Given the description of an element on the screen output the (x, y) to click on. 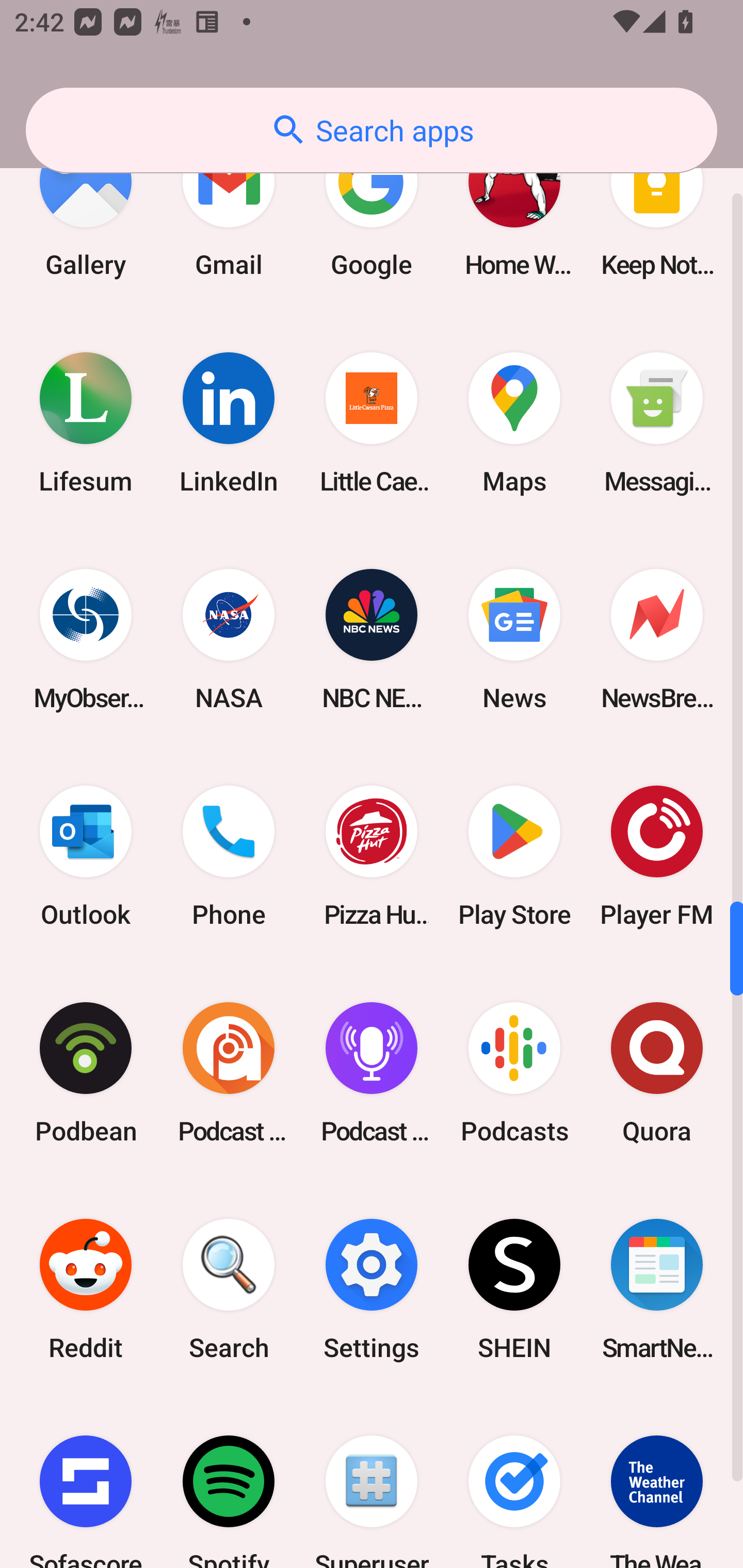
  Search apps (371, 130)
Gallery (85, 209)
Gmail (228, 209)
Google (371, 209)
Home Workout (514, 209)
Keep Notes (656, 209)
Lifesum (85, 423)
LinkedIn (228, 423)
Little Caesars Pizza (371, 423)
Maps (514, 423)
Messaging (656, 423)
MyObservatory (85, 639)
NASA (228, 639)
NBC NEWS (371, 639)
News (514, 639)
NewsBreak (656, 639)
Outlook (85, 855)
Phone (228, 855)
Pizza Hut HK & Macau (371, 855)
Play Store (514, 855)
Player FM (656, 855)
Podbean (85, 1072)
Podcast Addict (228, 1072)
Podcast Player (371, 1072)
Podcasts (514, 1072)
Quora (656, 1072)
Reddit (85, 1288)
Search (228, 1288)
Settings (371, 1288)
SHEIN (514, 1288)
SmartNews (656, 1288)
Sofascore (85, 1482)
Spotify (228, 1482)
Superuser (371, 1482)
Tasks (514, 1482)
The Weather Channel (656, 1482)
